Given the description of an element on the screen output the (x, y) to click on. 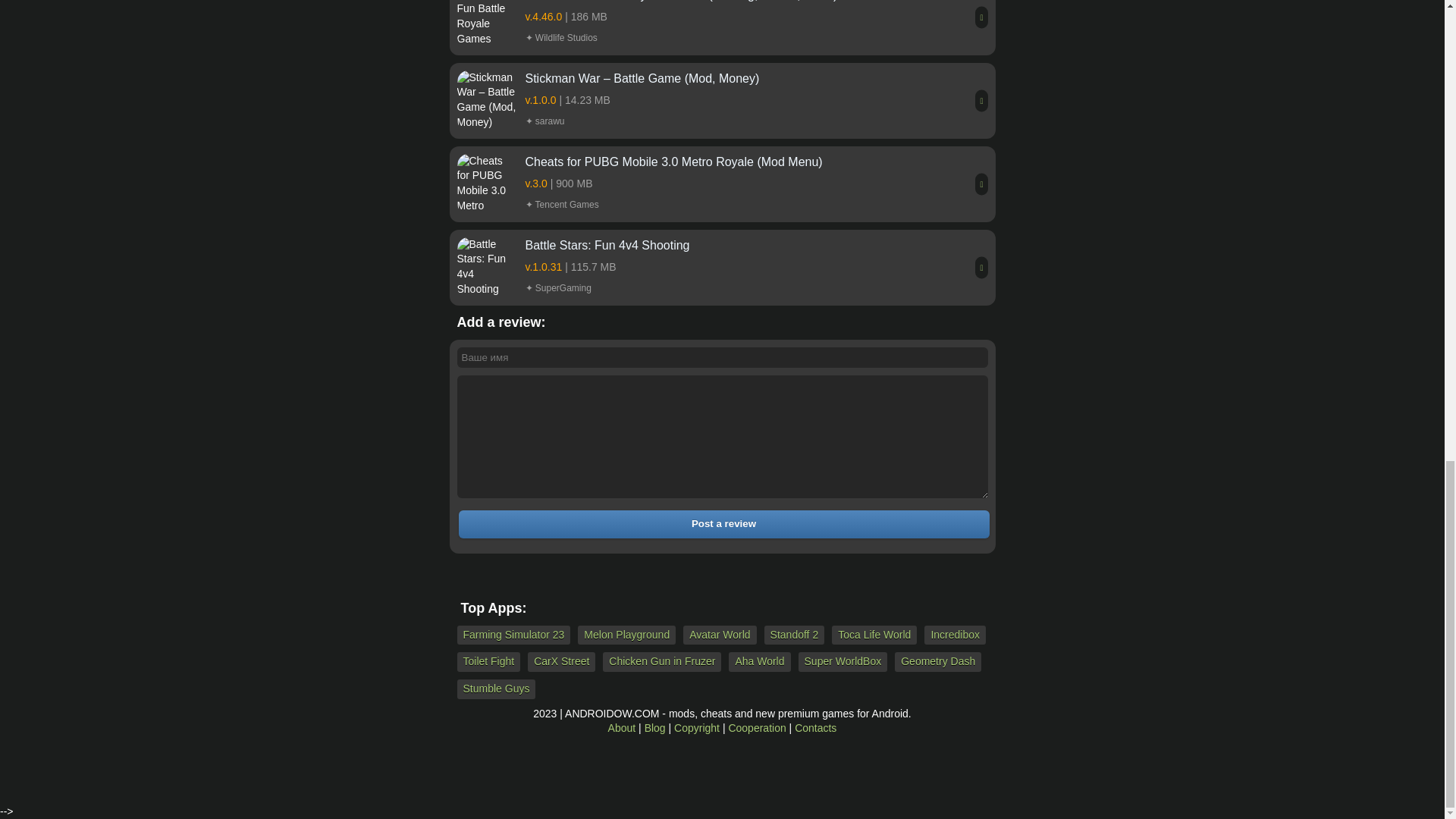
Chicken Gun in Fruzer (661, 661)
Farming Simulator 23 (513, 635)
Melon Playground (626, 635)
Post a review (723, 524)
Battle Stars: Fun 4v4 Shooting (721, 267)
Aha World (759, 661)
Avatar World (718, 635)
Toca Life World (874, 635)
Standoff 2 (794, 635)
Incredibox (954, 635)
